Given the description of an element on the screen output the (x, y) to click on. 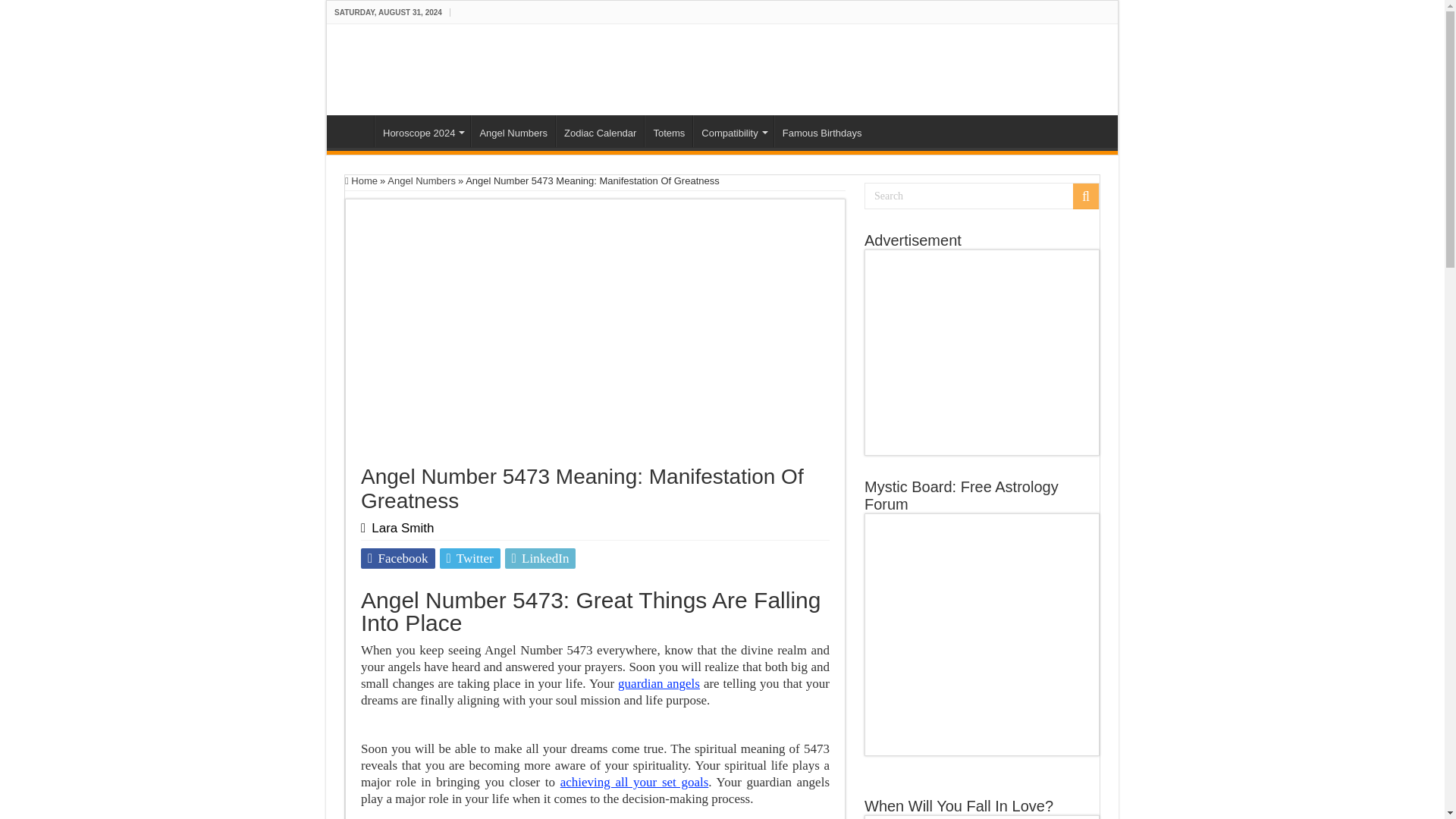
Horoscope 2024 (422, 131)
Zodiac Calendar (599, 131)
What Are Animal Totems (669, 131)
Compatibility (733, 131)
Home (354, 131)
LinkedIn (540, 557)
Search (981, 195)
Angel Numbers (512, 131)
Horoscope 2024 (422, 131)
Zodiac Calendar (599, 131)
